Given the description of an element on the screen output the (x, y) to click on. 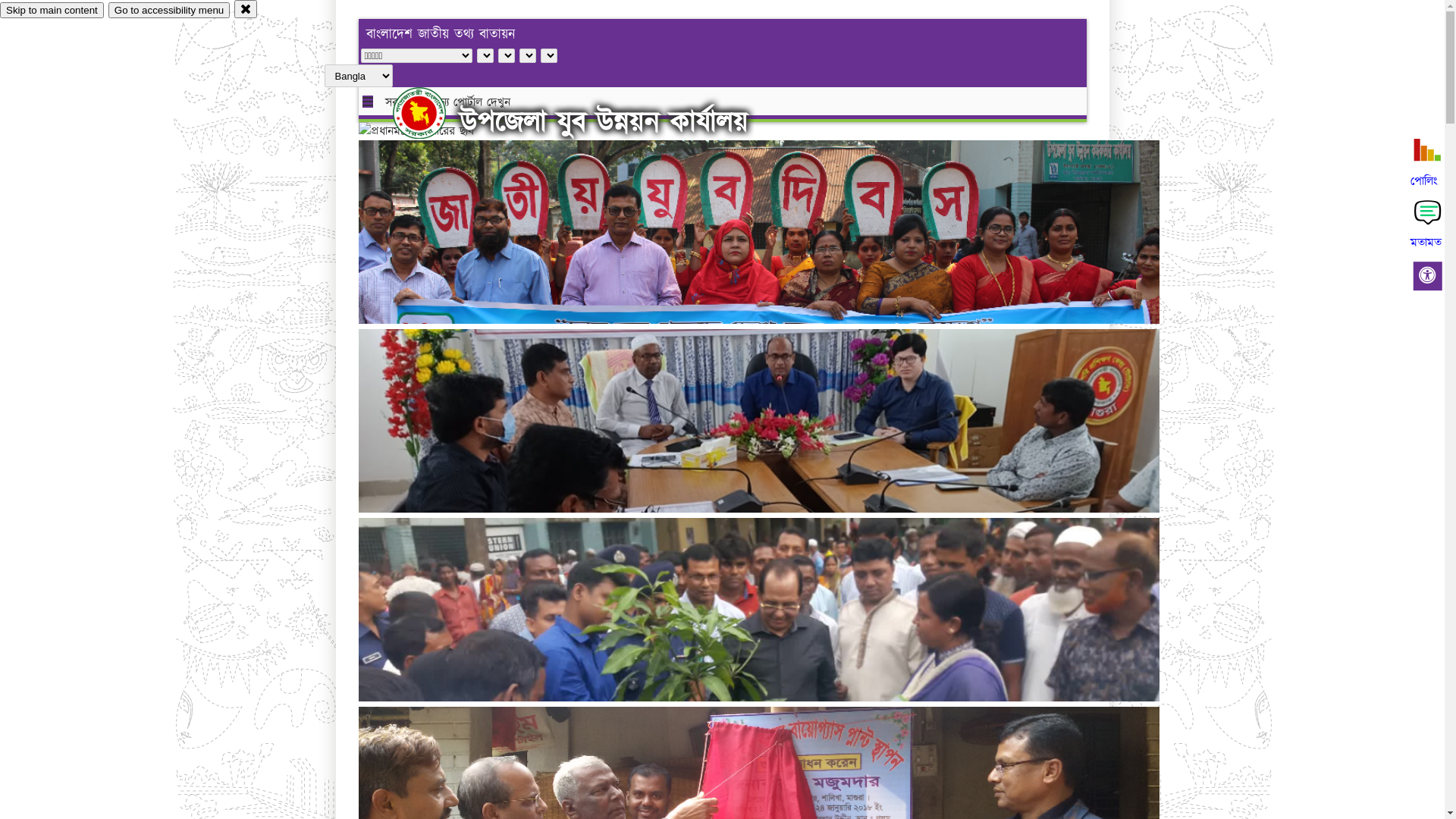
close Element type: hover (245, 9)
Skip to main content Element type: text (51, 10)

                
             Element type: hover (431, 112)
Go to accessibility menu Element type: text (168, 10)
